Given the description of an element on the screen output the (x, y) to click on. 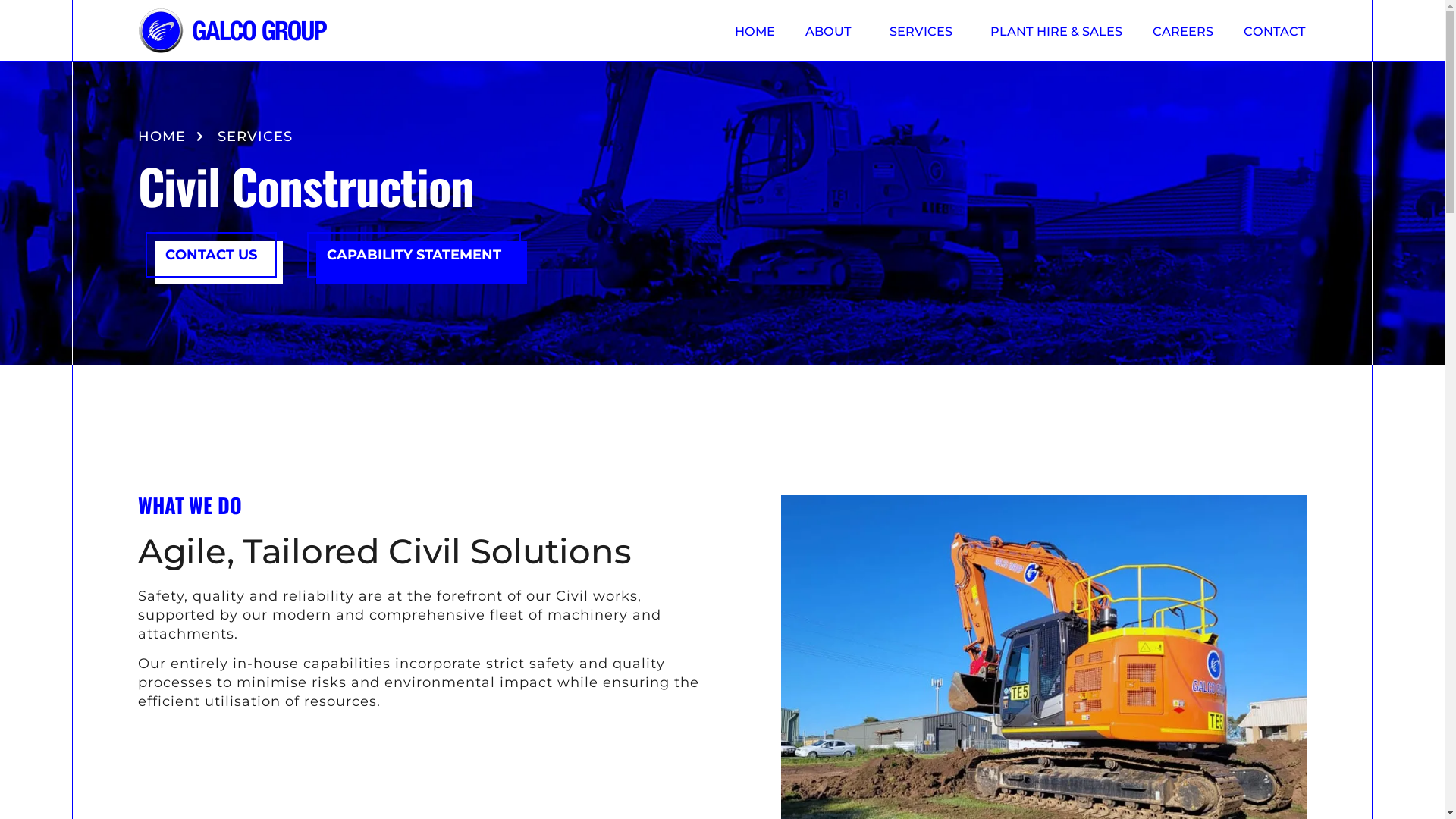
SERVICES Element type: text (254, 136)
CAPABILITY STATEMENT Element type: text (413, 254)
PLANT HIRE & SALES Element type: text (1056, 29)
HOME Element type: text (161, 136)
CONTACT Element type: text (1274, 29)
ABOUT Element type: text (832, 29)
HOME Element type: text (754, 29)
CONTACT US Element type: text (210, 254)
CAREERS Element type: text (1182, 29)
SERVICES Element type: text (924, 29)
